Given the description of an element on the screen output the (x, y) to click on. 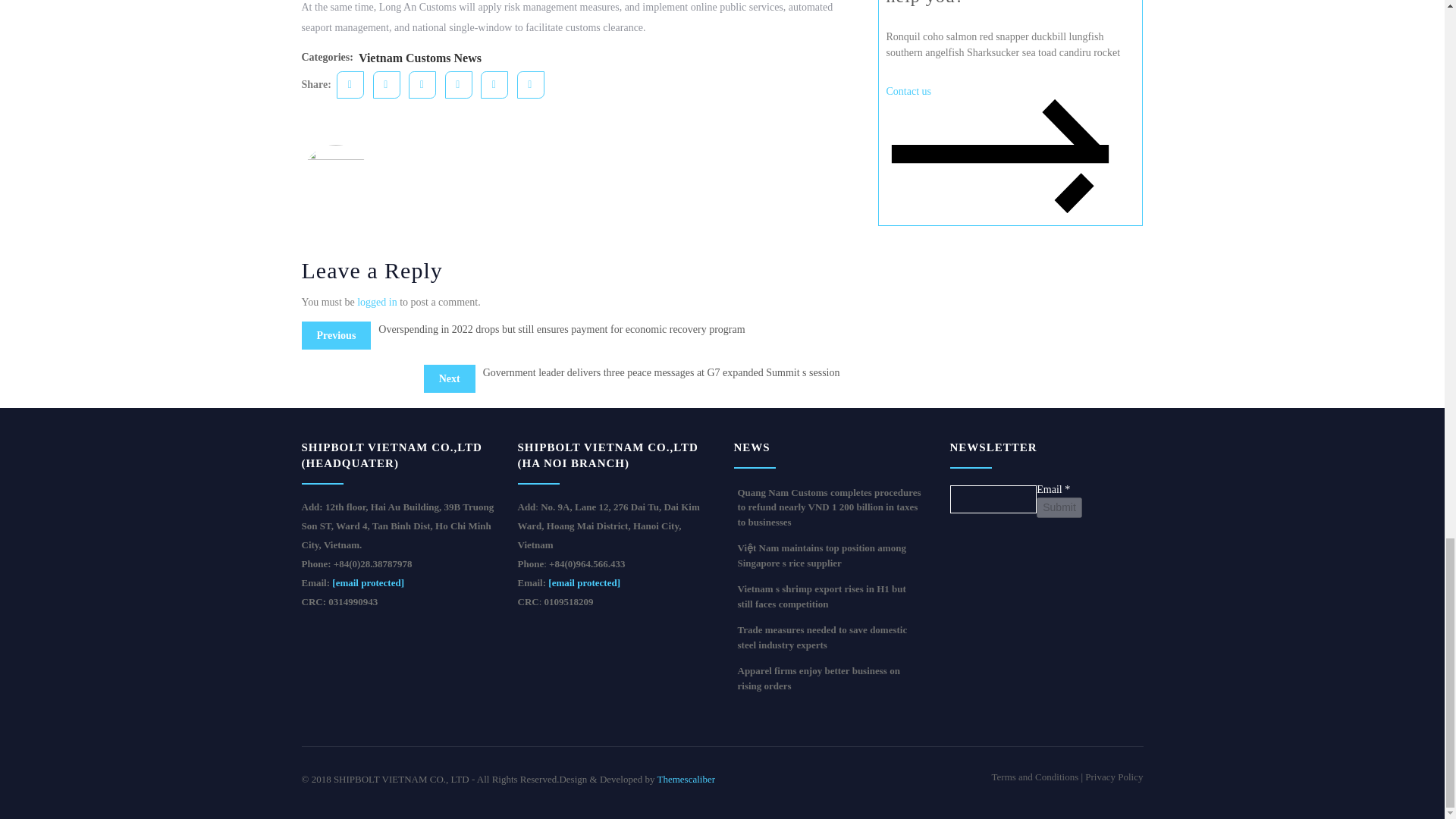
Vietnam Customs News (419, 57)
logged in (376, 301)
